Given the description of an element on the screen output the (x, y) to click on. 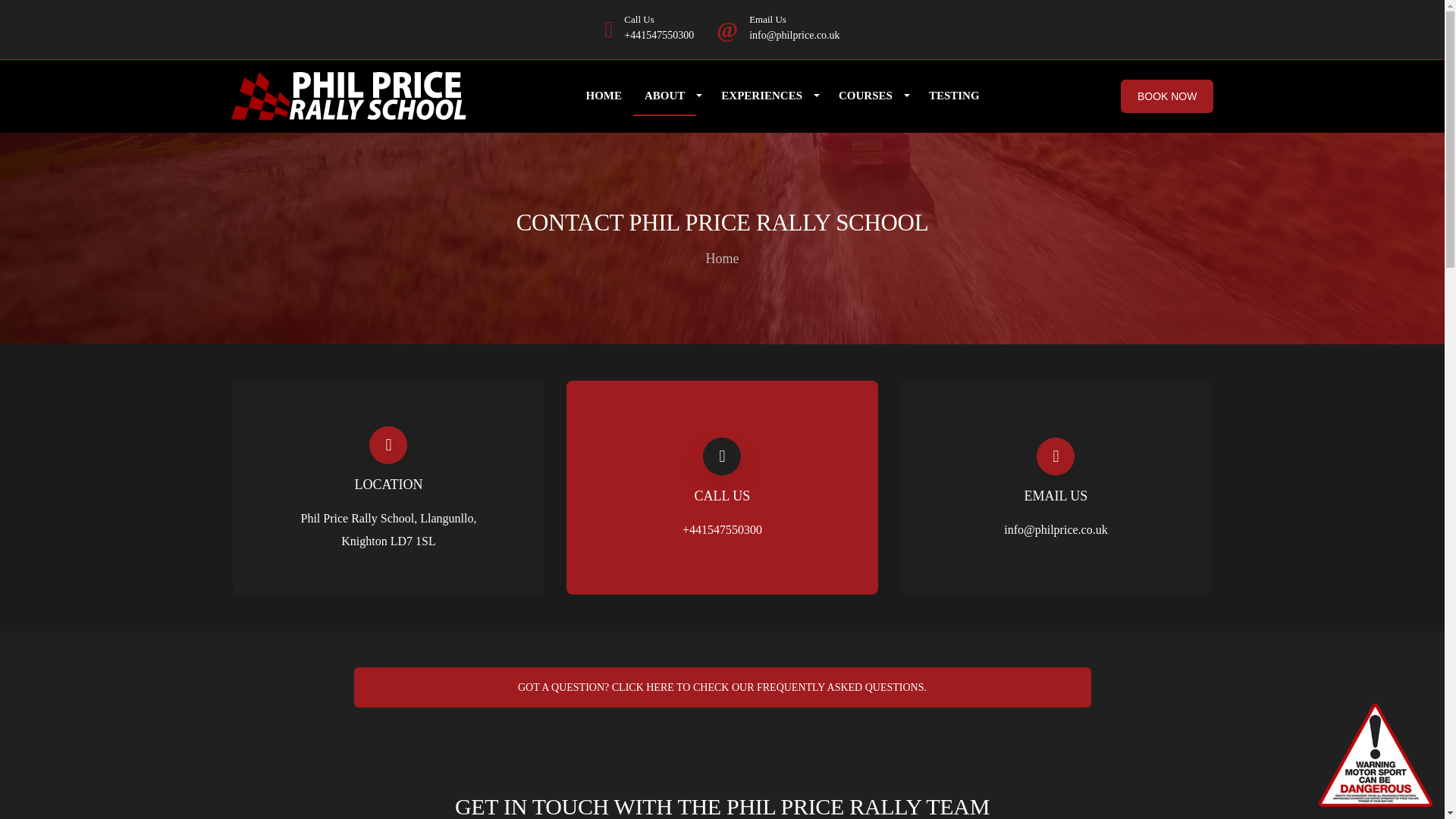
HOME (603, 96)
COURSES (865, 96)
TESTING (954, 96)
ABOUT (664, 96)
EXPERIENCES (761, 96)
BOOK NOW (1167, 96)
